Given the description of an element on the screen output the (x, y) to click on. 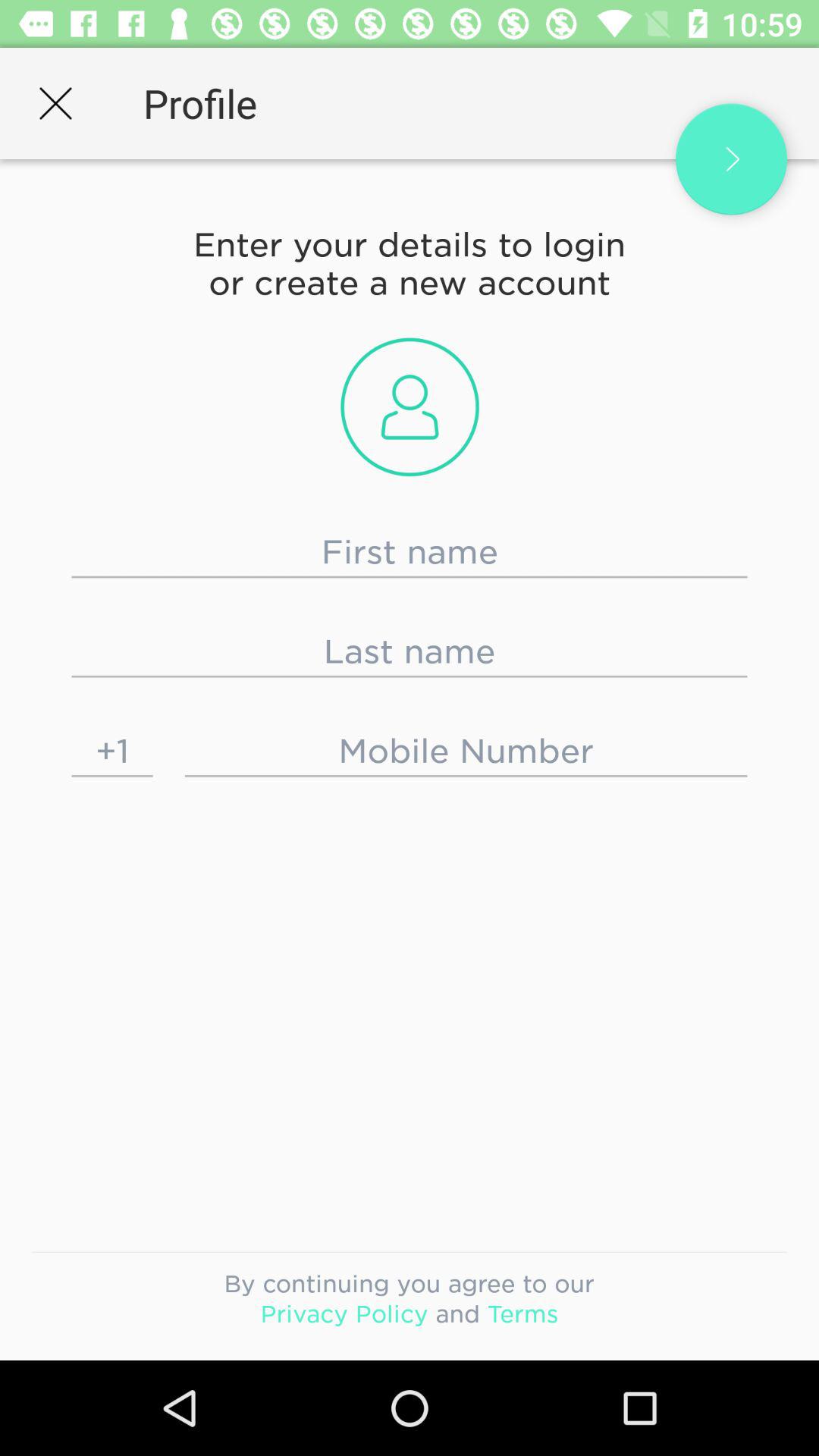
view options (731, 158)
